Given the description of an element on the screen output the (x, y) to click on. 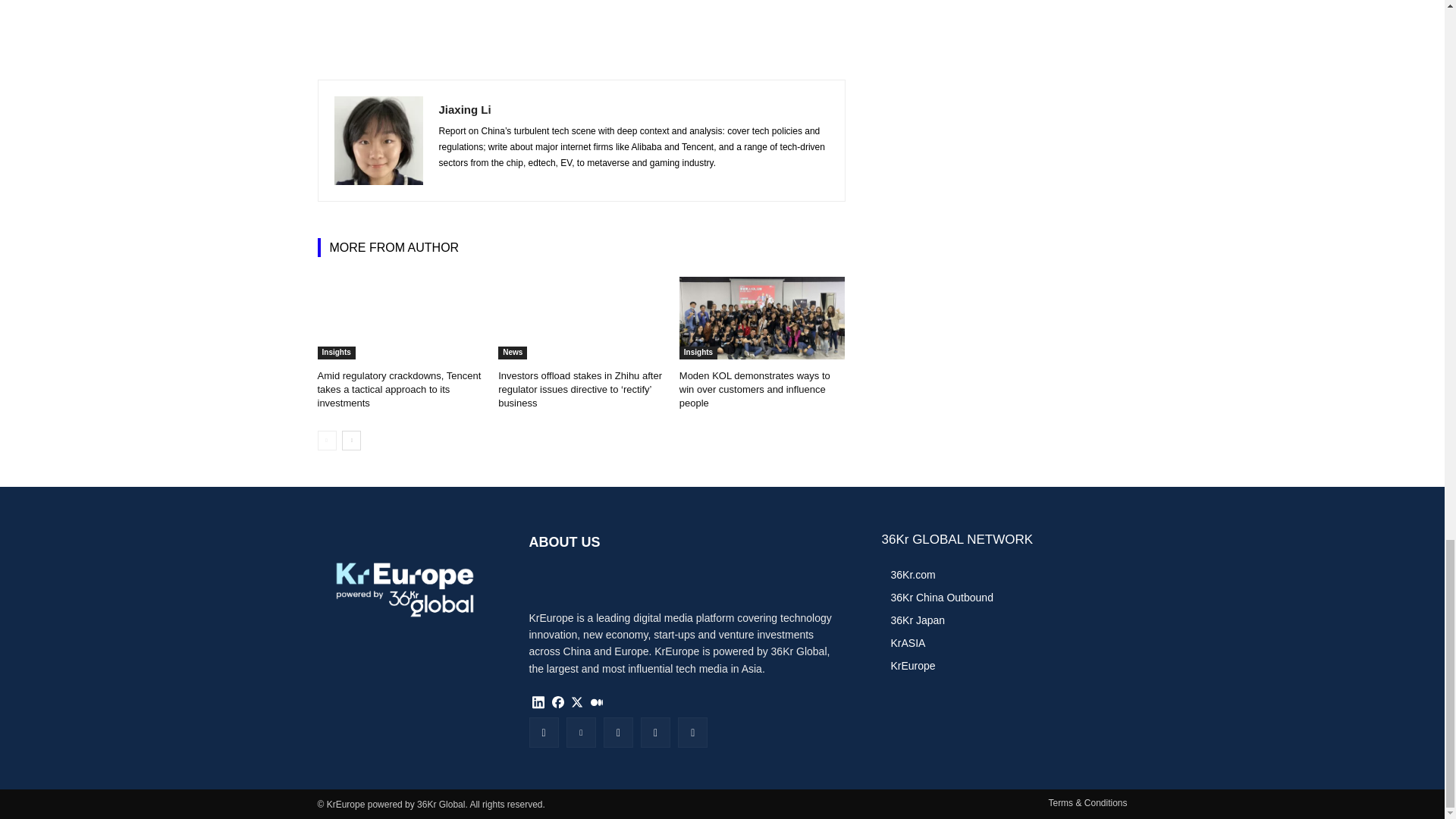
Jiaxing Li (377, 140)
